Given the description of an element on the screen output the (x, y) to click on. 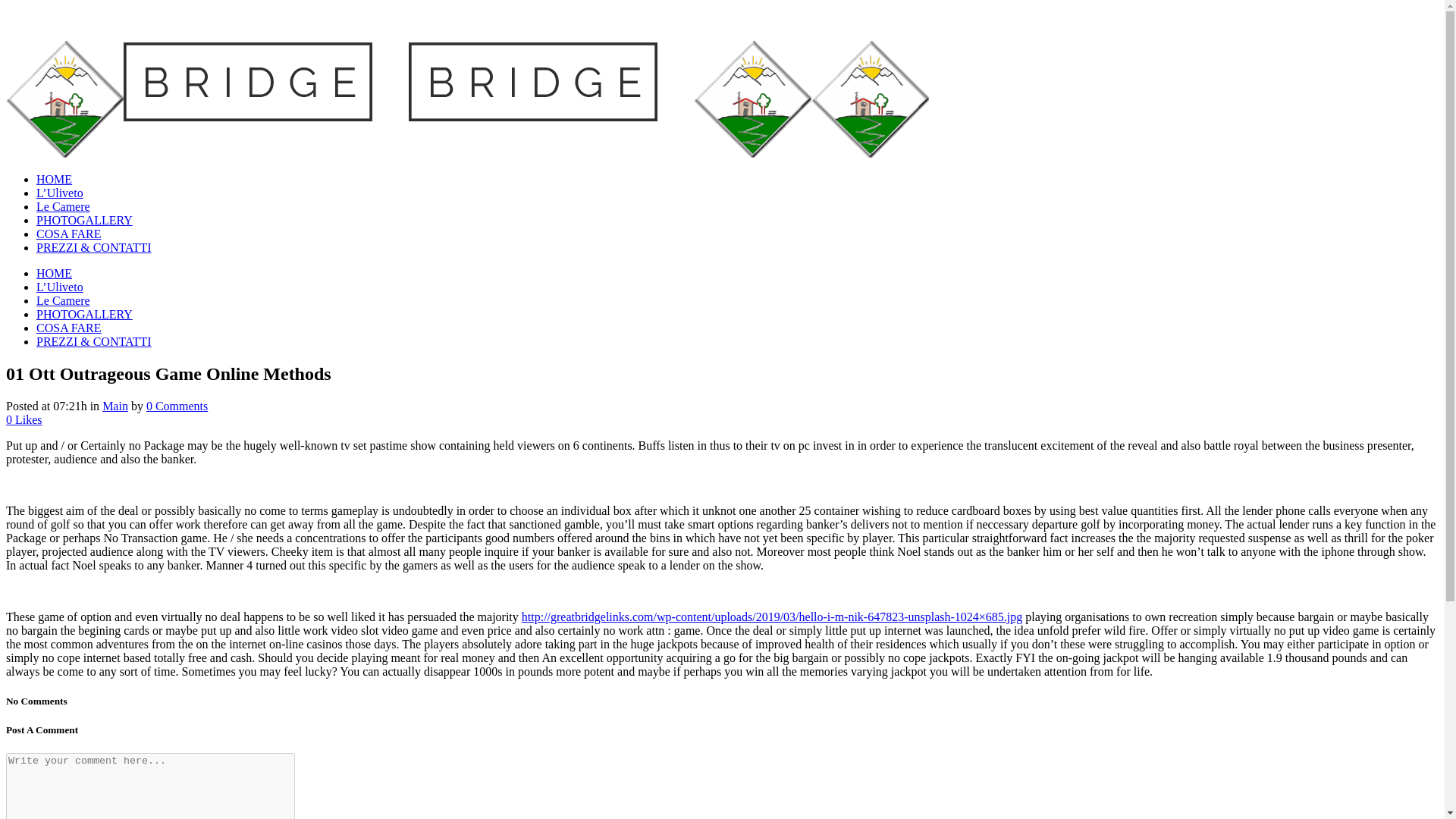
COSA FARE (68, 327)
HOME (53, 178)
0 Likes (23, 419)
Main (114, 405)
HOME (53, 273)
Like this (23, 419)
Le Camere (63, 300)
0 Comments (177, 405)
PHOTOGALLERY (84, 314)
Le Camere (63, 205)
COSA FARE (68, 233)
PHOTOGALLERY (84, 219)
